Given the description of an element on the screen output the (x, y) to click on. 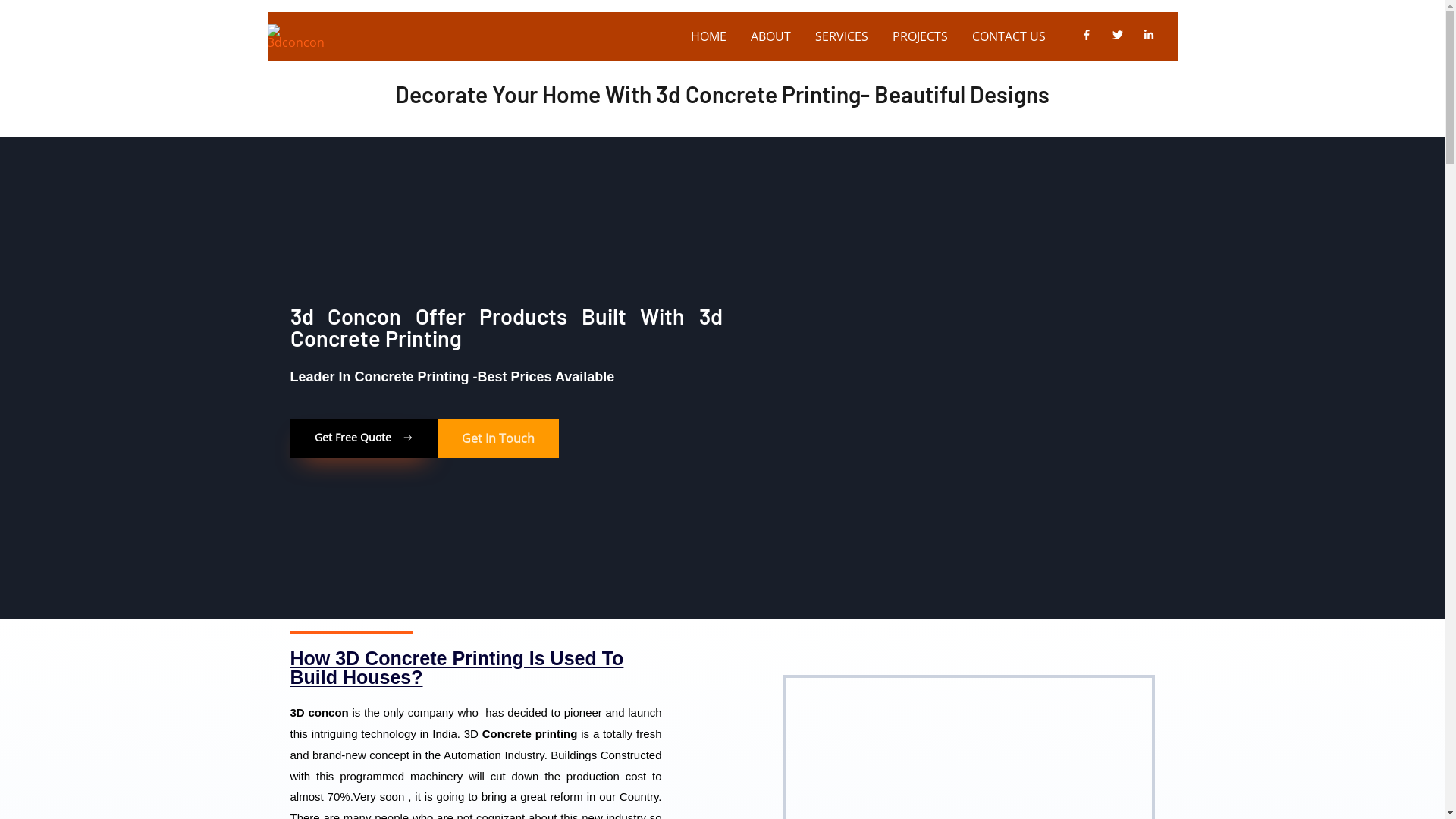
HOME Element type: text (707, 36)
Get In Touch Element type: text (497, 438)
CONTACT US Element type: text (1008, 36)
Get Free Quote Element type: text (362, 438)
ABOUT Element type: text (770, 36)
PROJECTS Element type: text (919, 36)
SERVICES Element type: text (840, 36)
